Given the description of an element on the screen output the (x, y) to click on. 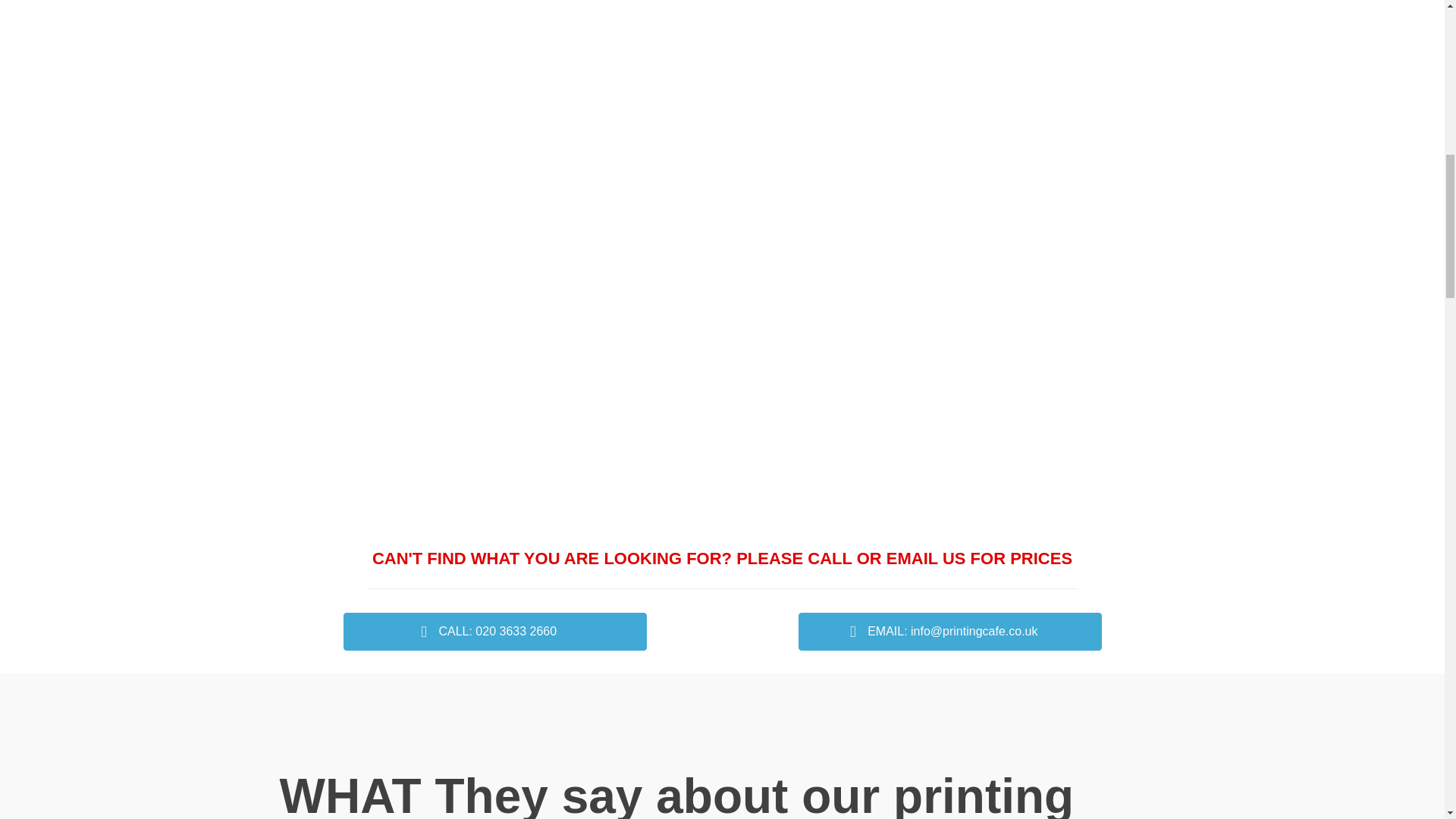
Envelope Printing pc (381, 34)
Sticker Printing (608, 422)
letterheads Printing pc (381, 194)
Postcard Printing (836, 422)
Booklets Printing pc (608, 194)
Posters printing pc (608, 34)
Calendars pc (1063, 34)
Presentation Folders pc (836, 34)
Clothing Printing (381, 422)
Business cards (836, 194)
